Given the description of an element on the screen output the (x, y) to click on. 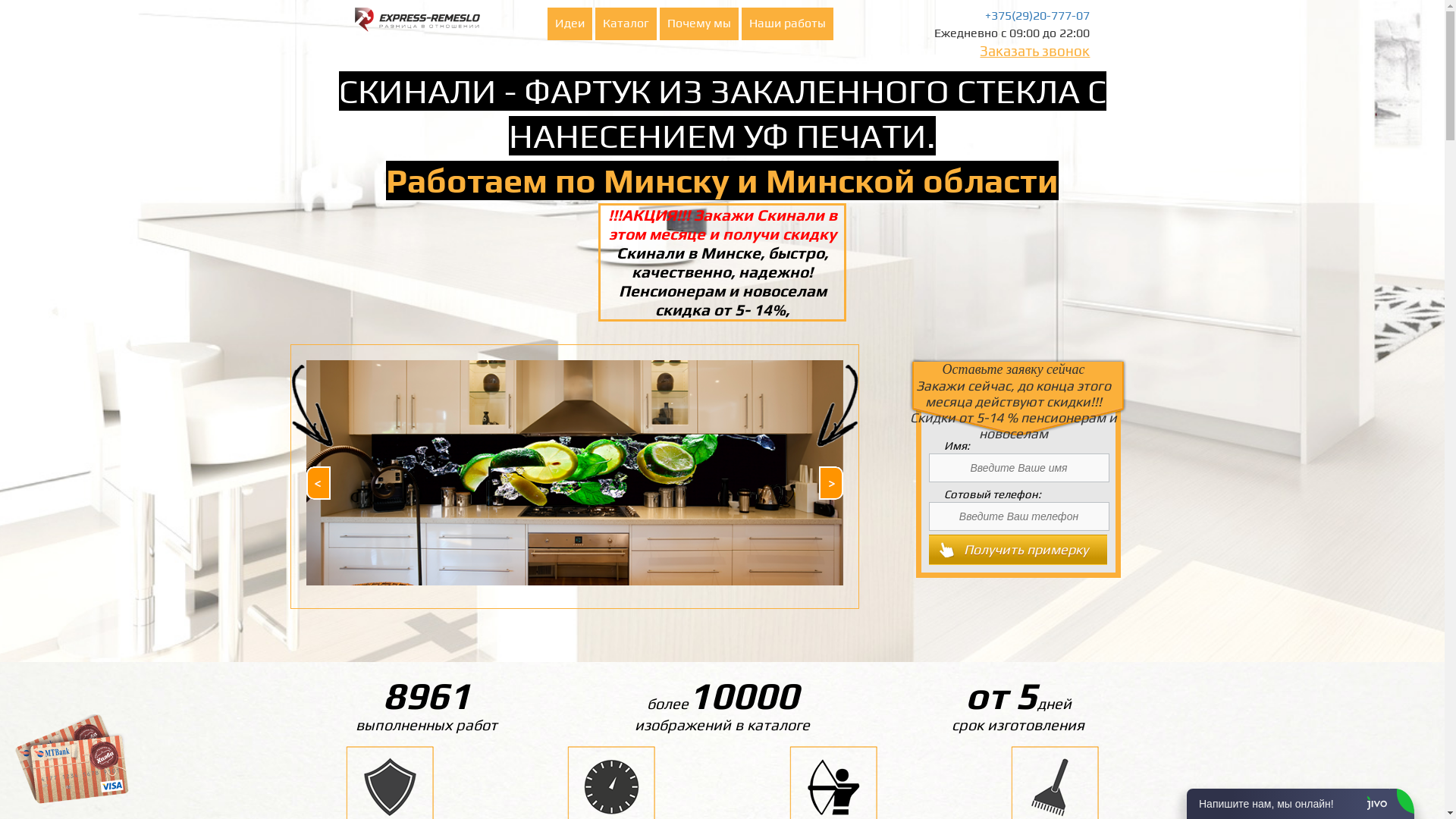
Next Element type: text (831, 482)
Prev Element type: text (318, 482)
+375(29)20-777-07 Element type: text (1037, 15)
